Given the description of an element on the screen output the (x, y) to click on. 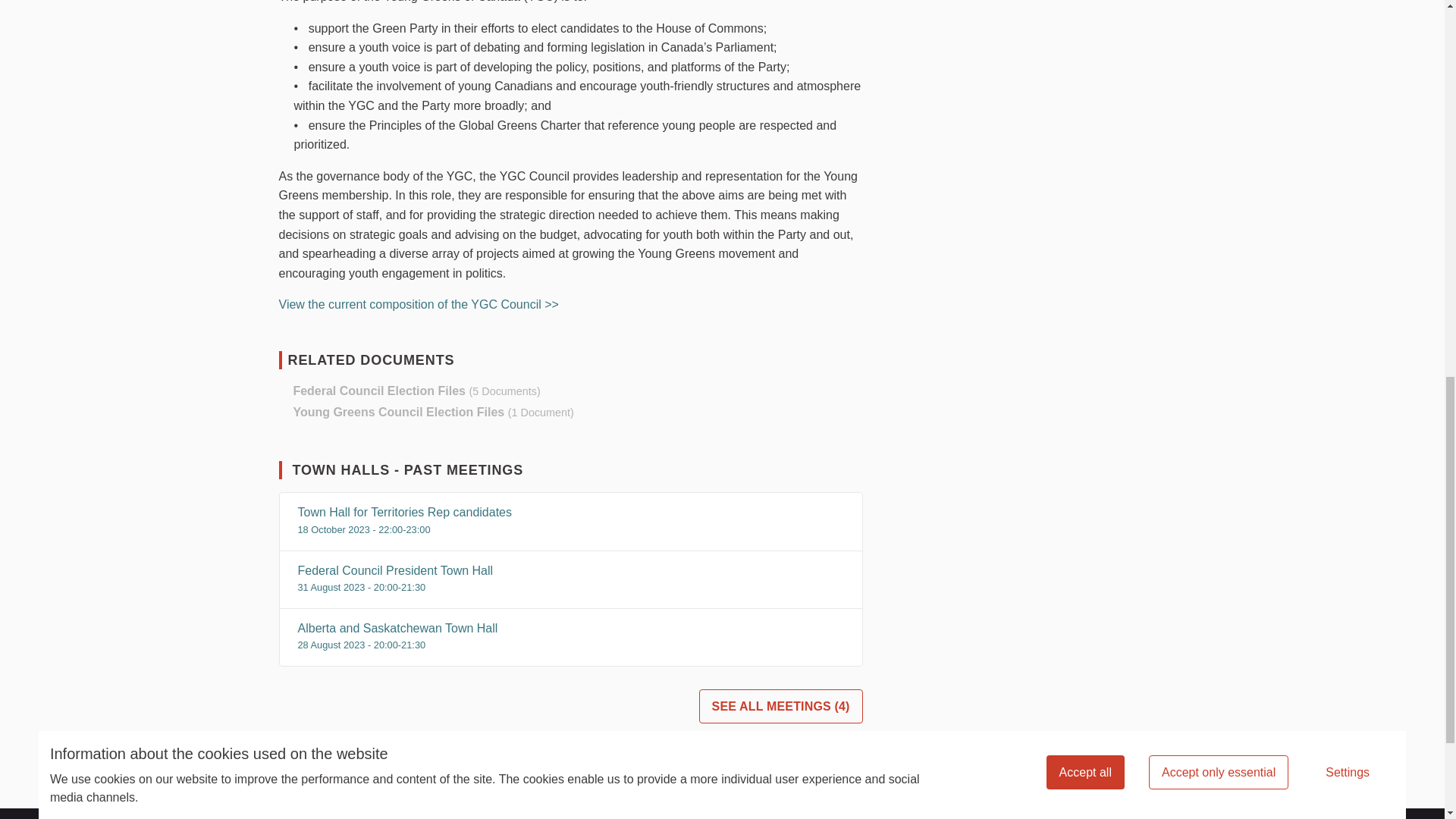
caret-right (282, 412)
caret-right (282, 390)
